Given the description of an element on the screen output the (x, y) to click on. 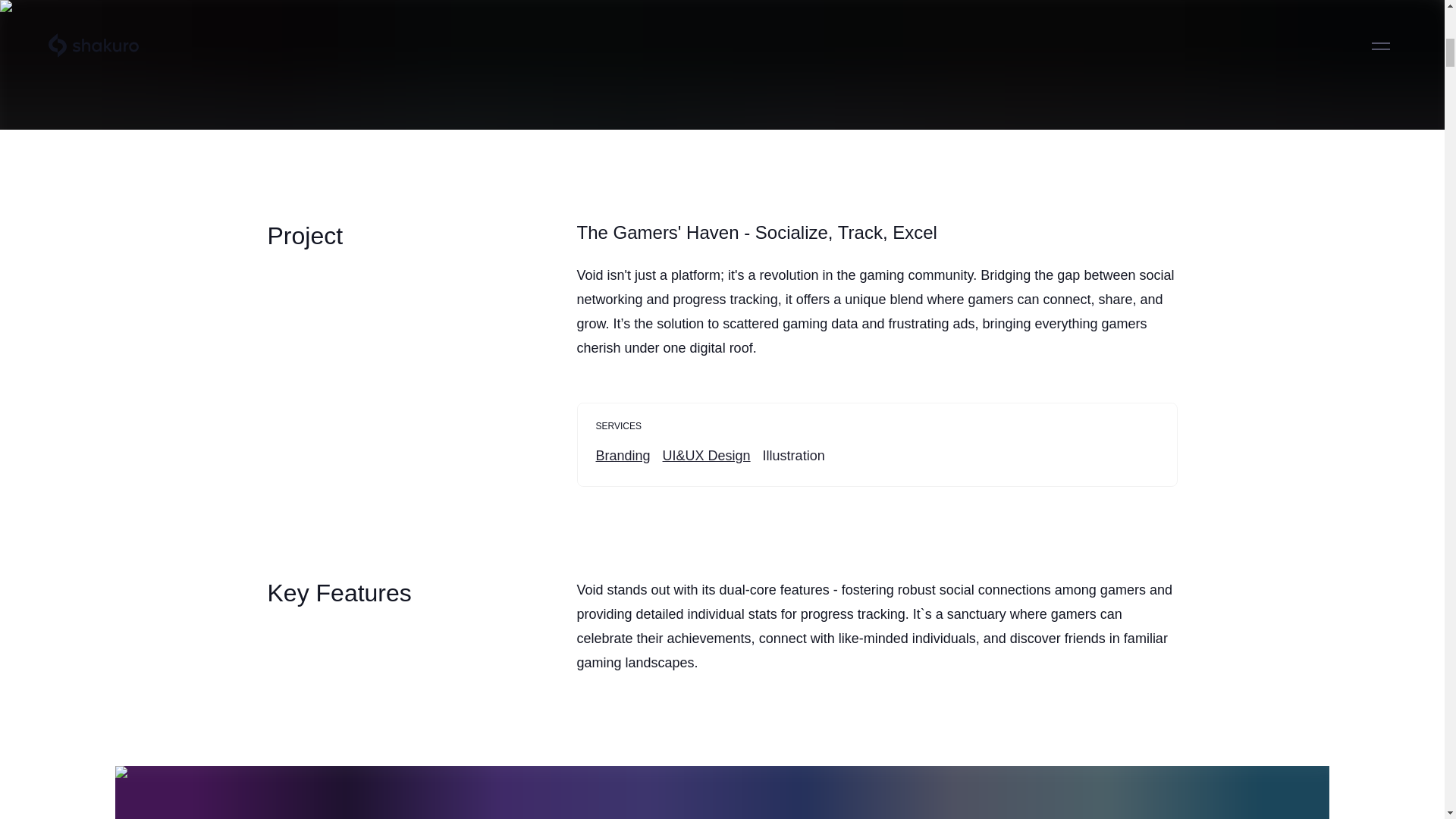
Branding (622, 455)
